Given the description of an element on the screen output the (x, y) to click on. 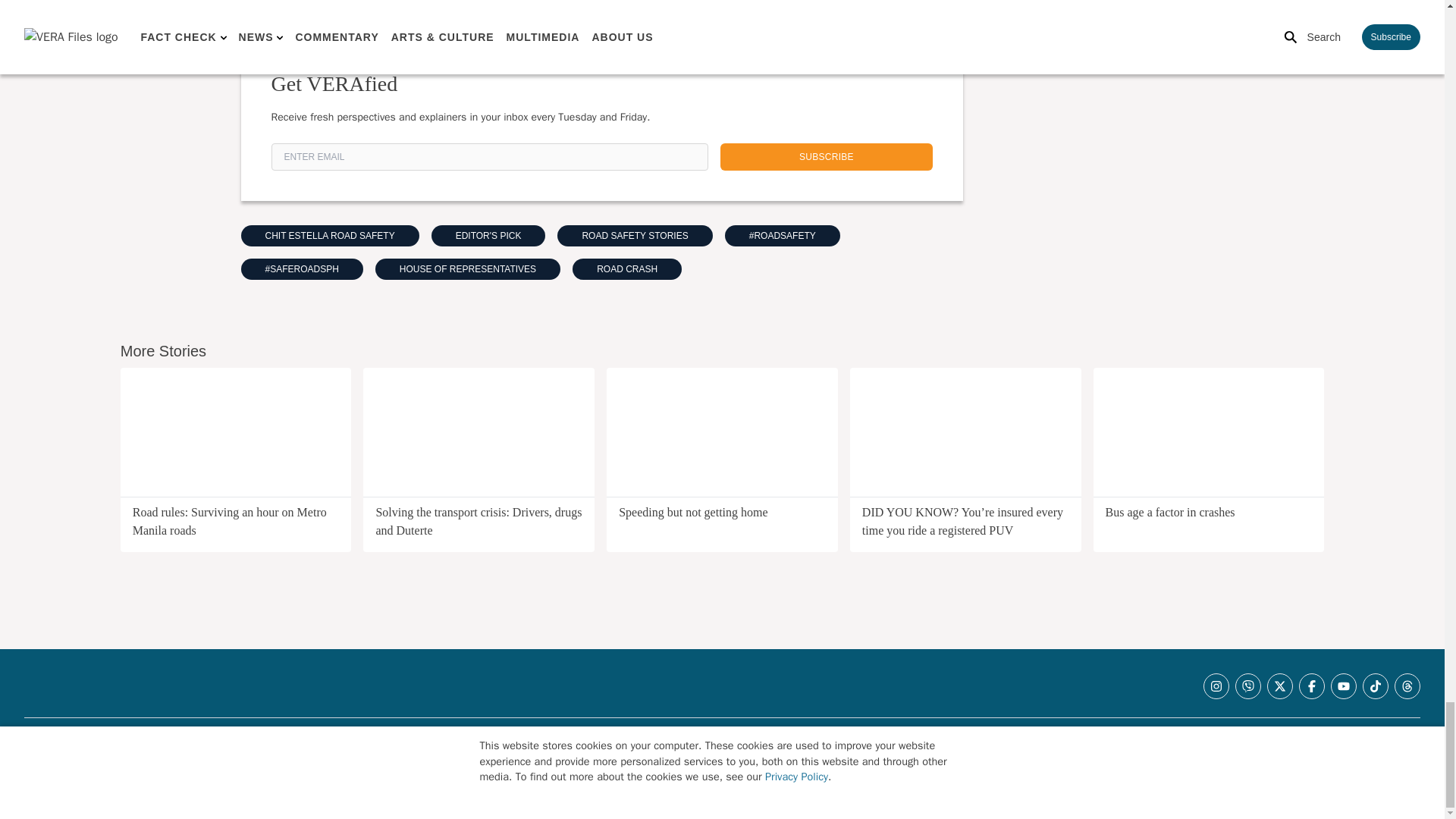
SUBSCRIBE (826, 156)
